Given the description of an element on the screen output the (x, y) to click on. 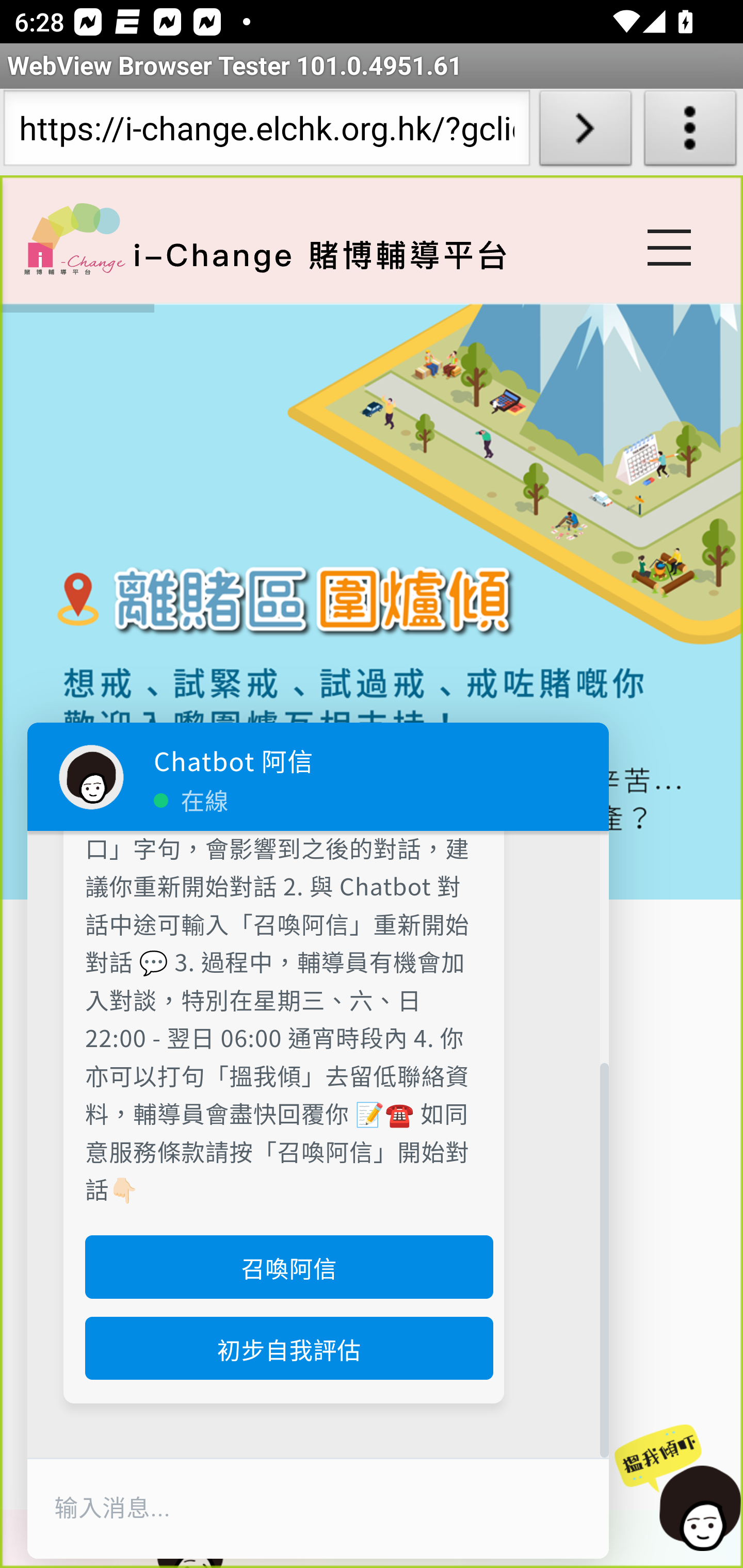
Load URL (585, 132)
About WebView (690, 132)
Home (74, 238)
Chat Now (674, 1488)
